Given the description of an element on the screen output the (x, y) to click on. 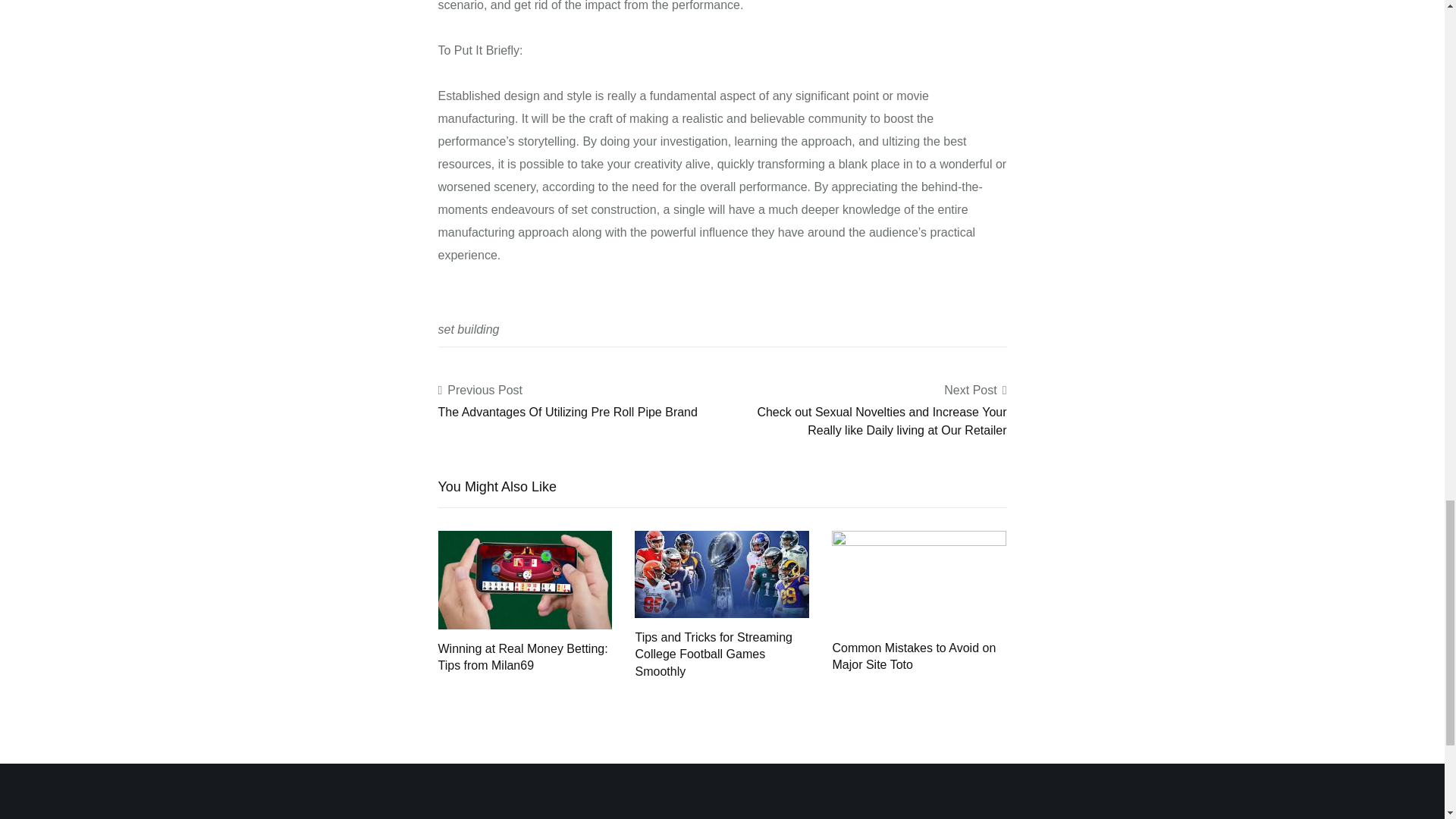
Winning at Real Money Betting: Tips from Milan69 (523, 656)
Winning at Real Money Betting: Tips from Milan69 (525, 578)
set building (468, 328)
Common Mistakes to Avoid on Major Site Toto (918, 578)
The Advantages Of Utilizing Pre Roll Pipe Brand (567, 411)
Common Mistakes to Avoid on Major Site Toto (913, 655)
